Given the description of an element on the screen output the (x, y) to click on. 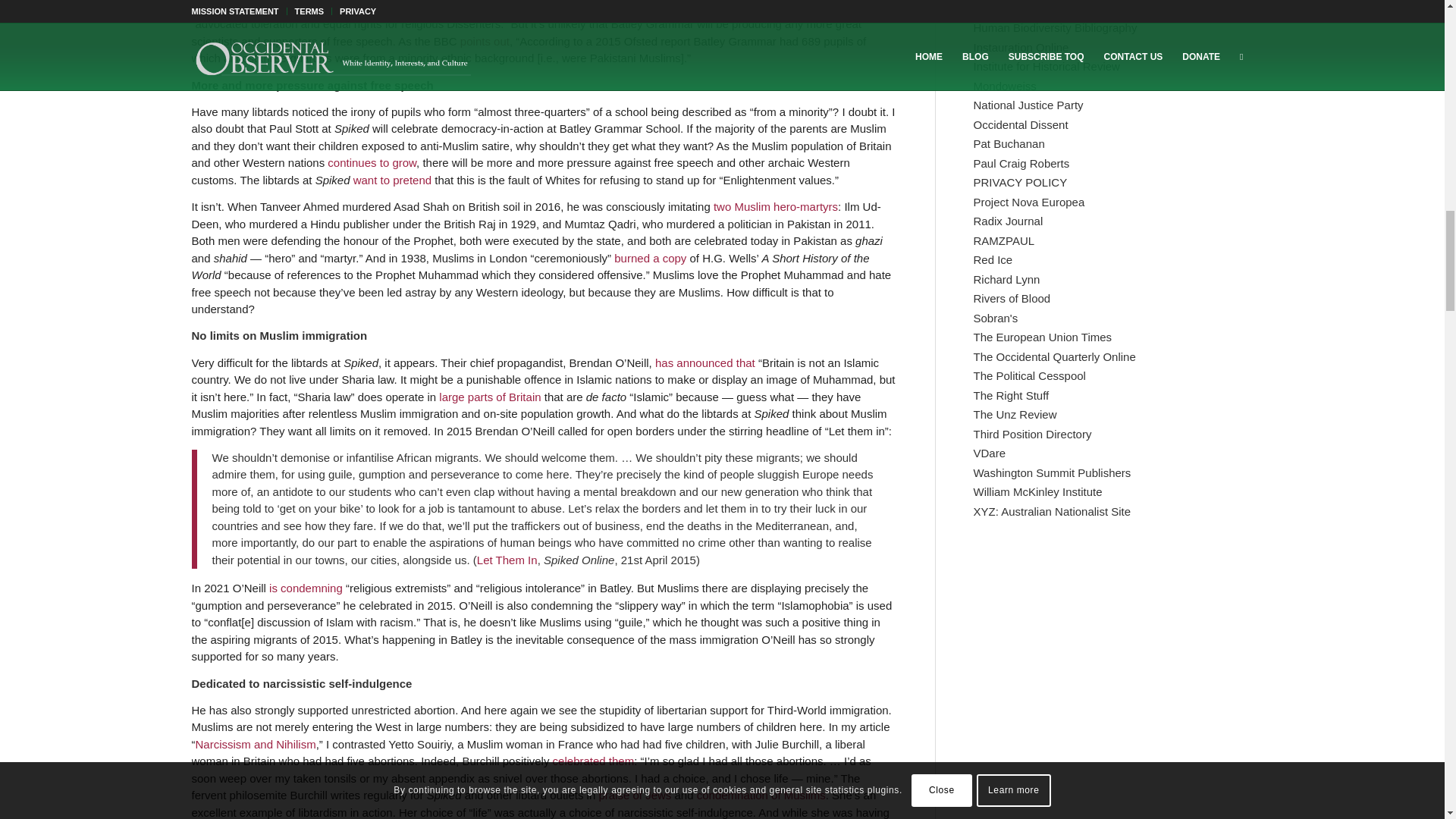
Joseph Priestley (531, 6)
points out (484, 41)
